Given the description of an element on the screen output the (x, y) to click on. 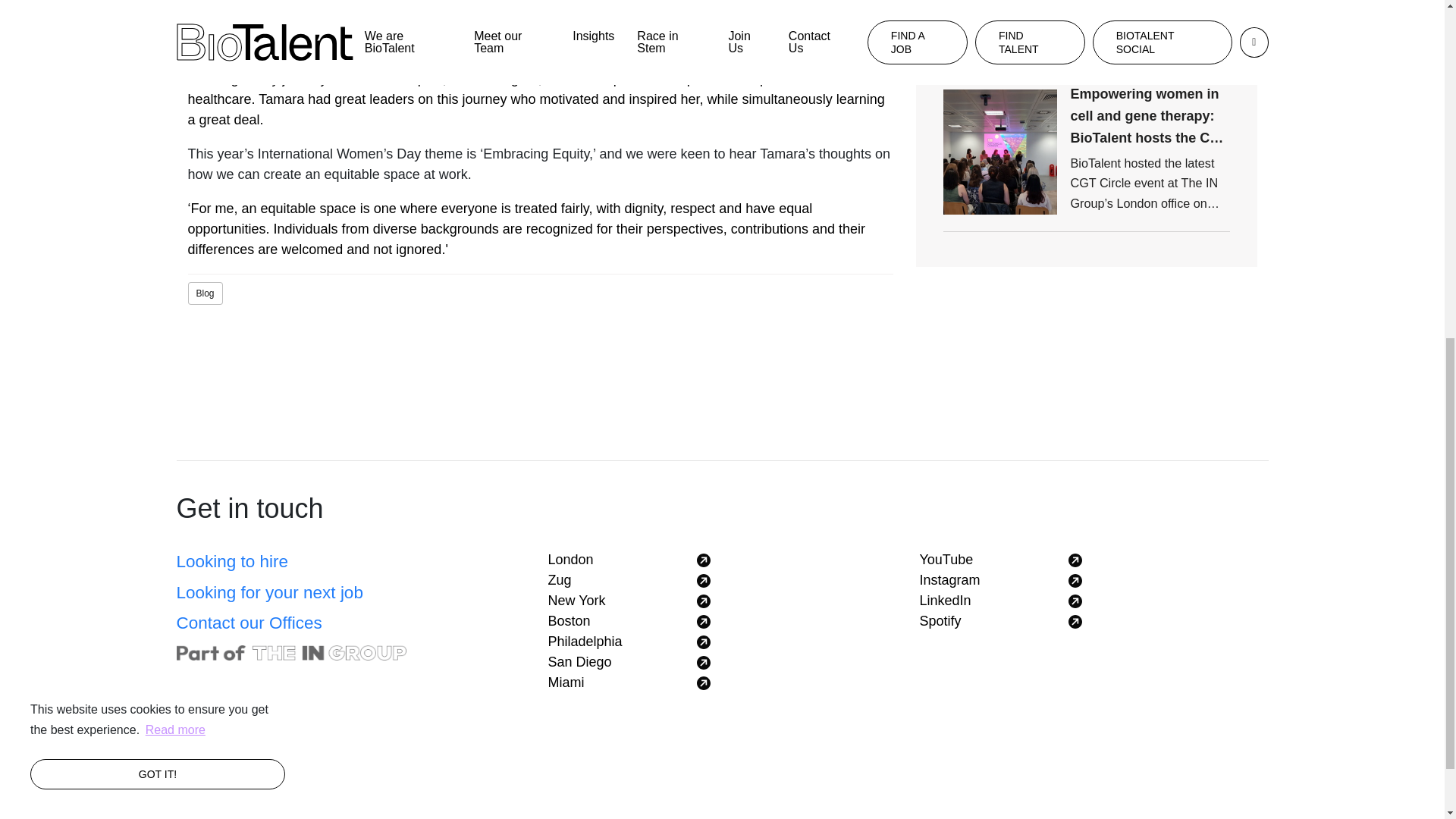
Looking to hire (232, 561)
Contact our Offices (248, 622)
Read more (175, 106)
GOT IT! (157, 150)
Blog (204, 292)
Looking for your next job (269, 592)
